Given the description of an element on the screen output the (x, y) to click on. 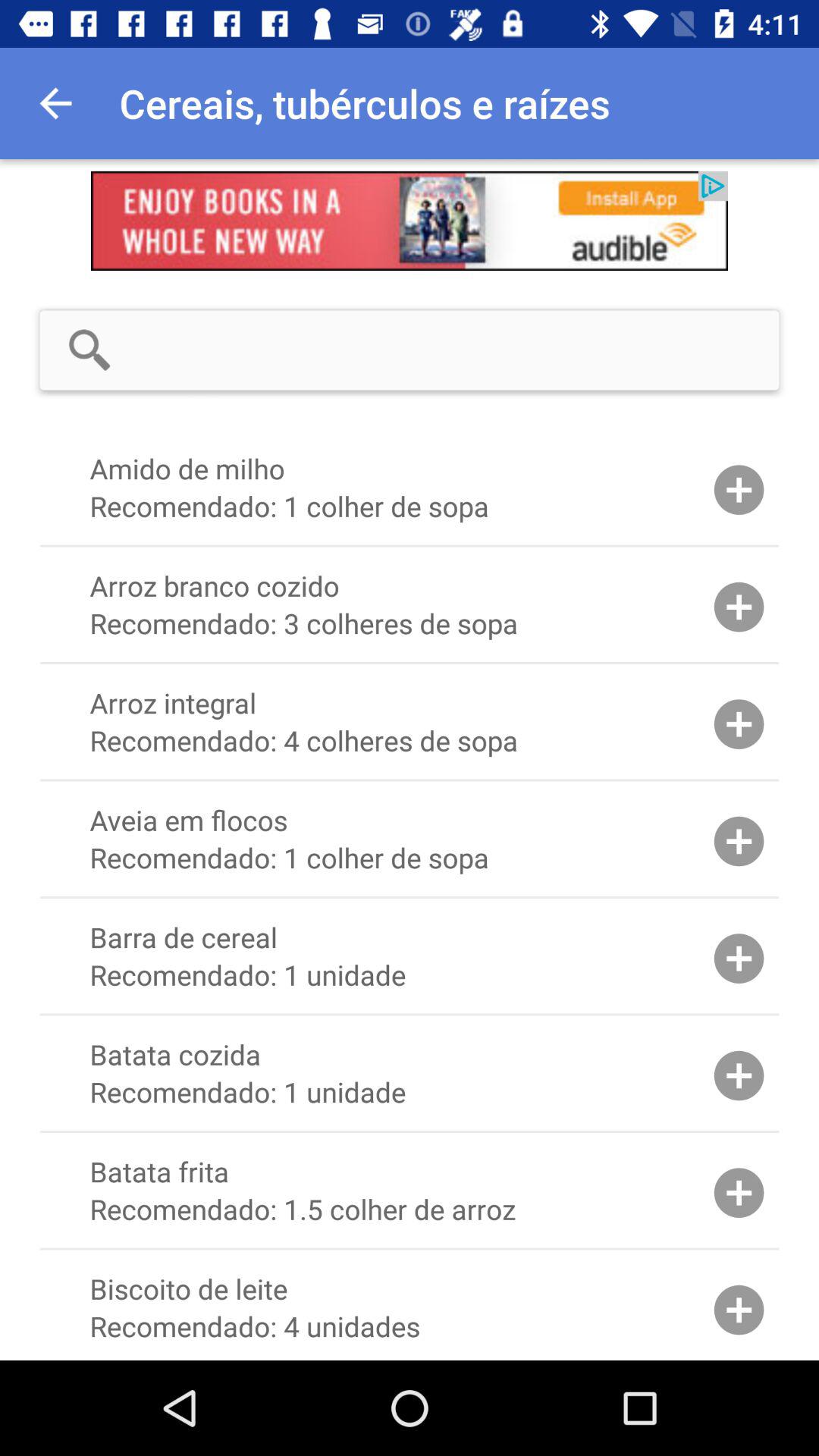
advertisement (409, 220)
